Given the description of an element on the screen output the (x, y) to click on. 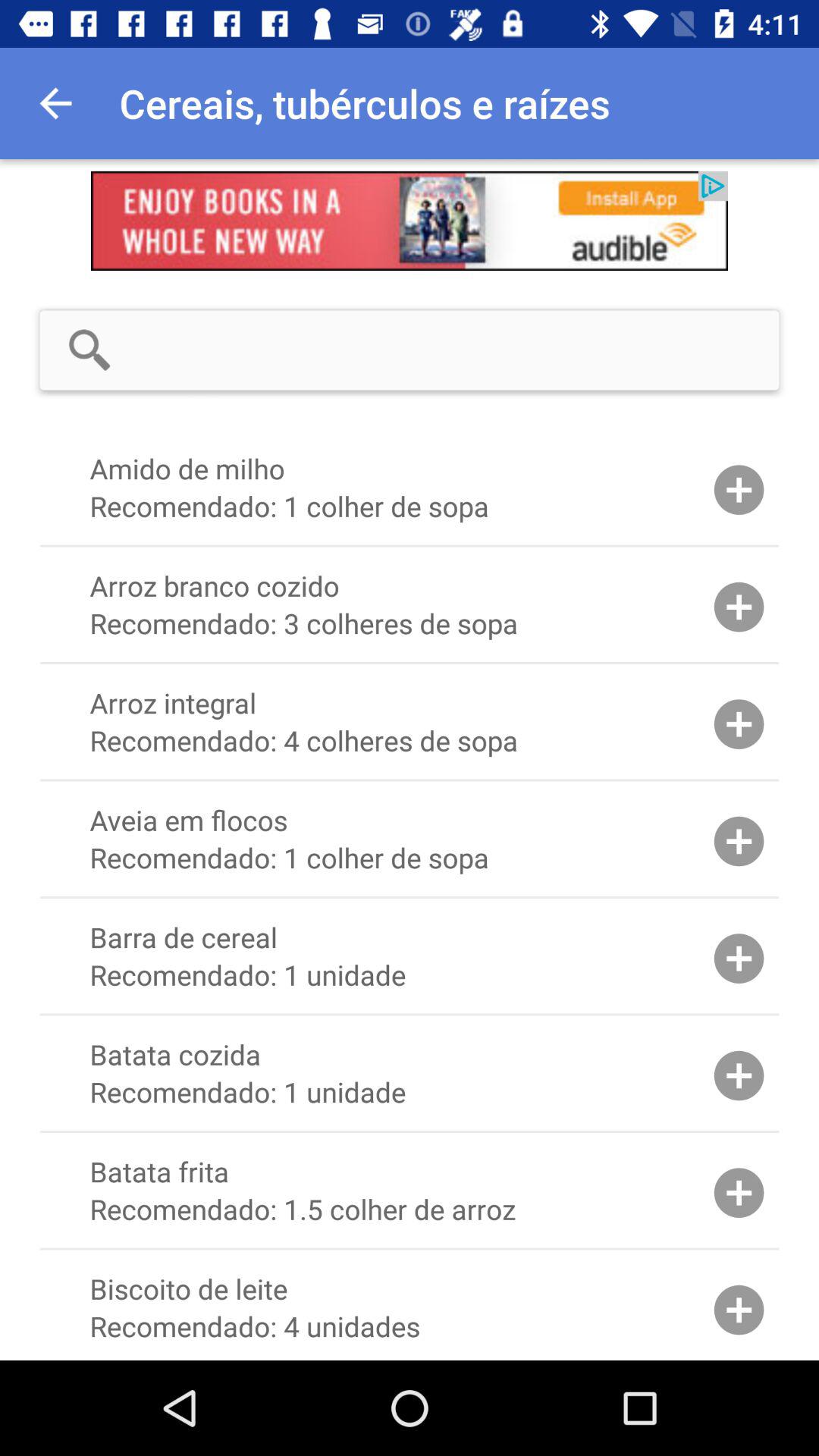
advertisement (409, 220)
